Given the description of an element on the screen output the (x, y) to click on. 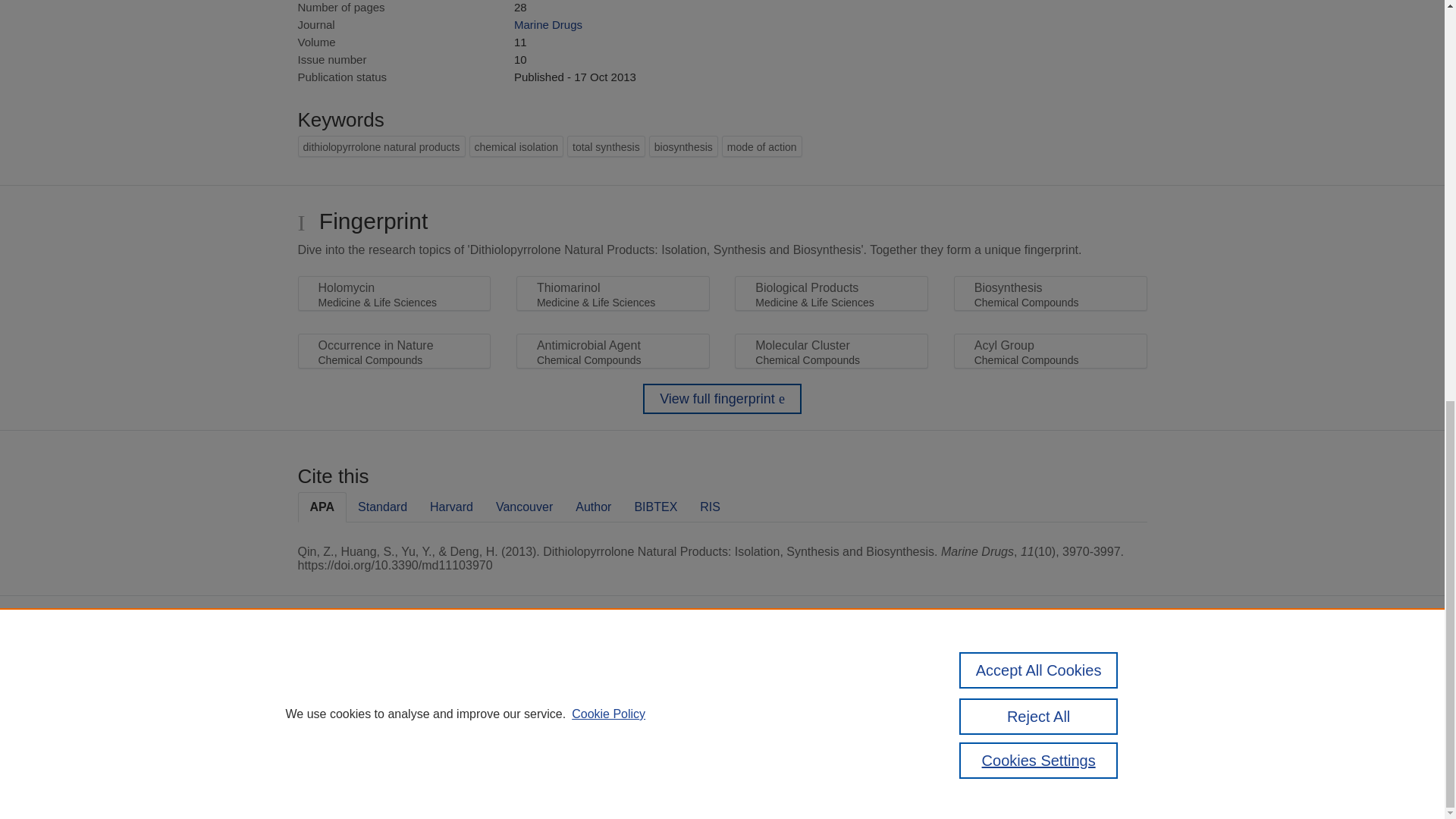
Pure (620, 671)
View full fingerprint (722, 399)
Marine Drugs (547, 24)
Scopus (652, 671)
